Given the description of an element on the screen output the (x, y) to click on. 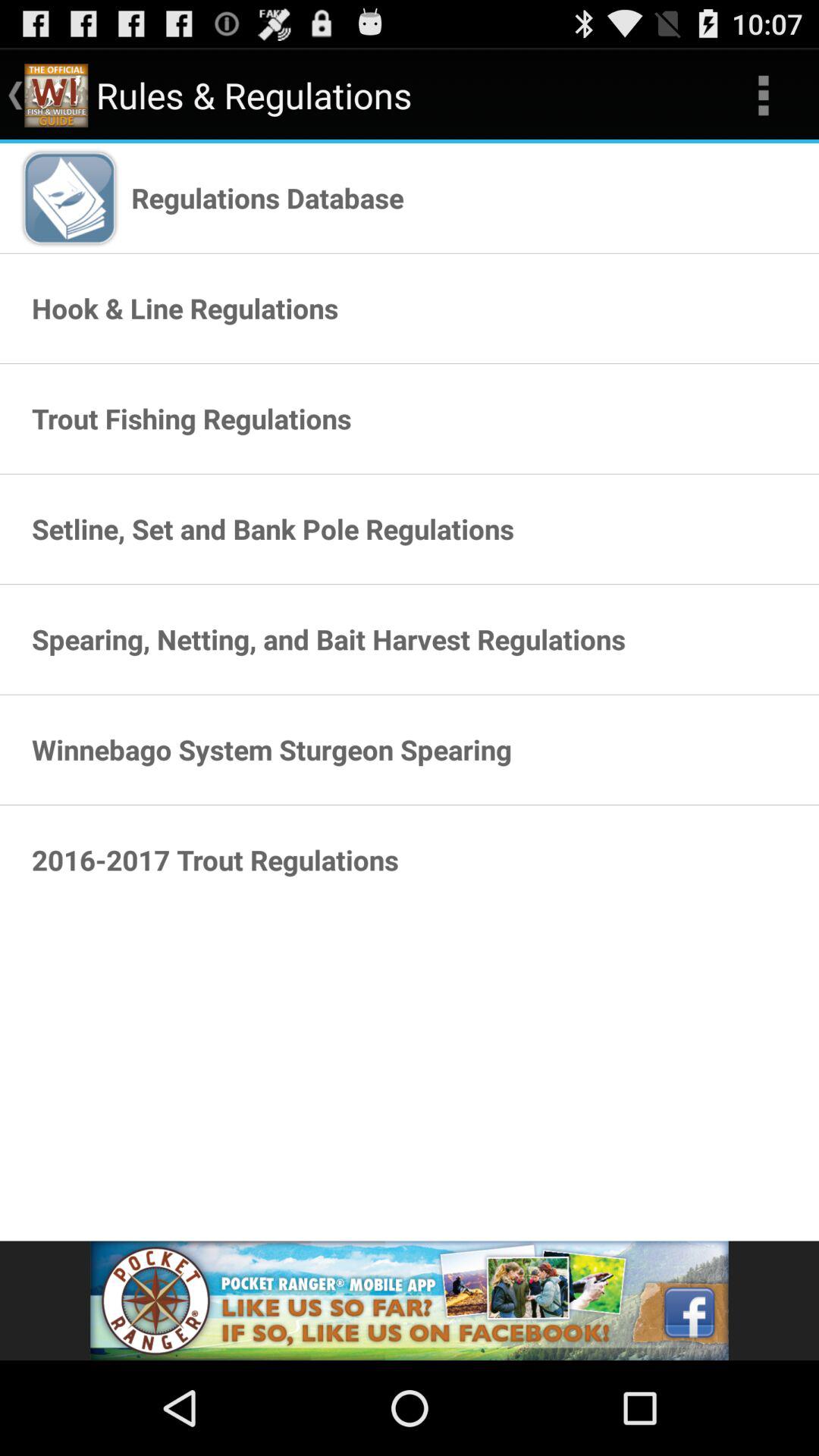
advertisement (409, 1300)
